Given the description of an element on the screen output the (x, y) to click on. 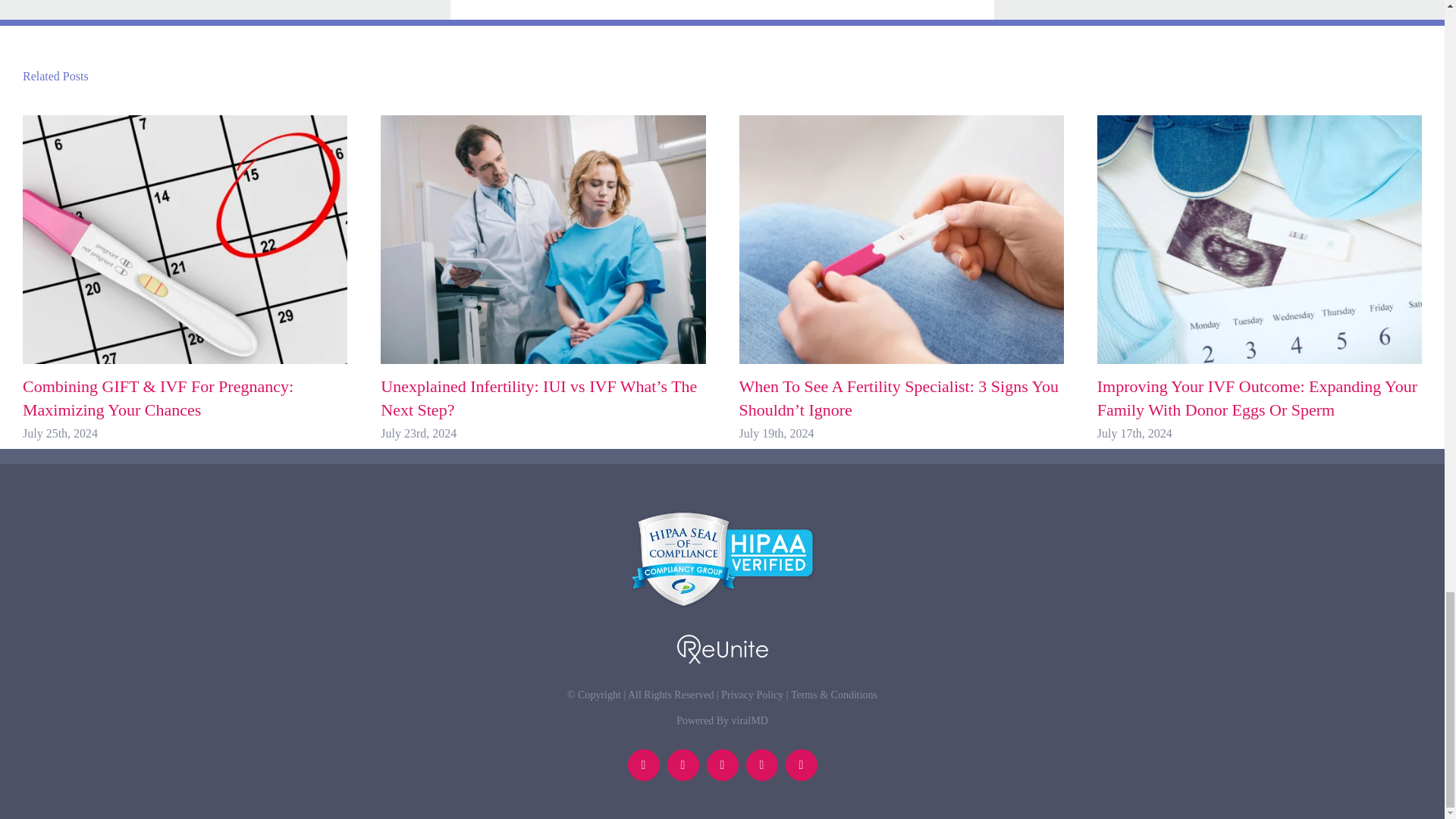
Instagram (801, 765)
X (722, 765)
YouTube (761, 765)
Facebook (682, 765)
LinkedIn (643, 765)
